Given the description of an element on the screen output the (x, y) to click on. 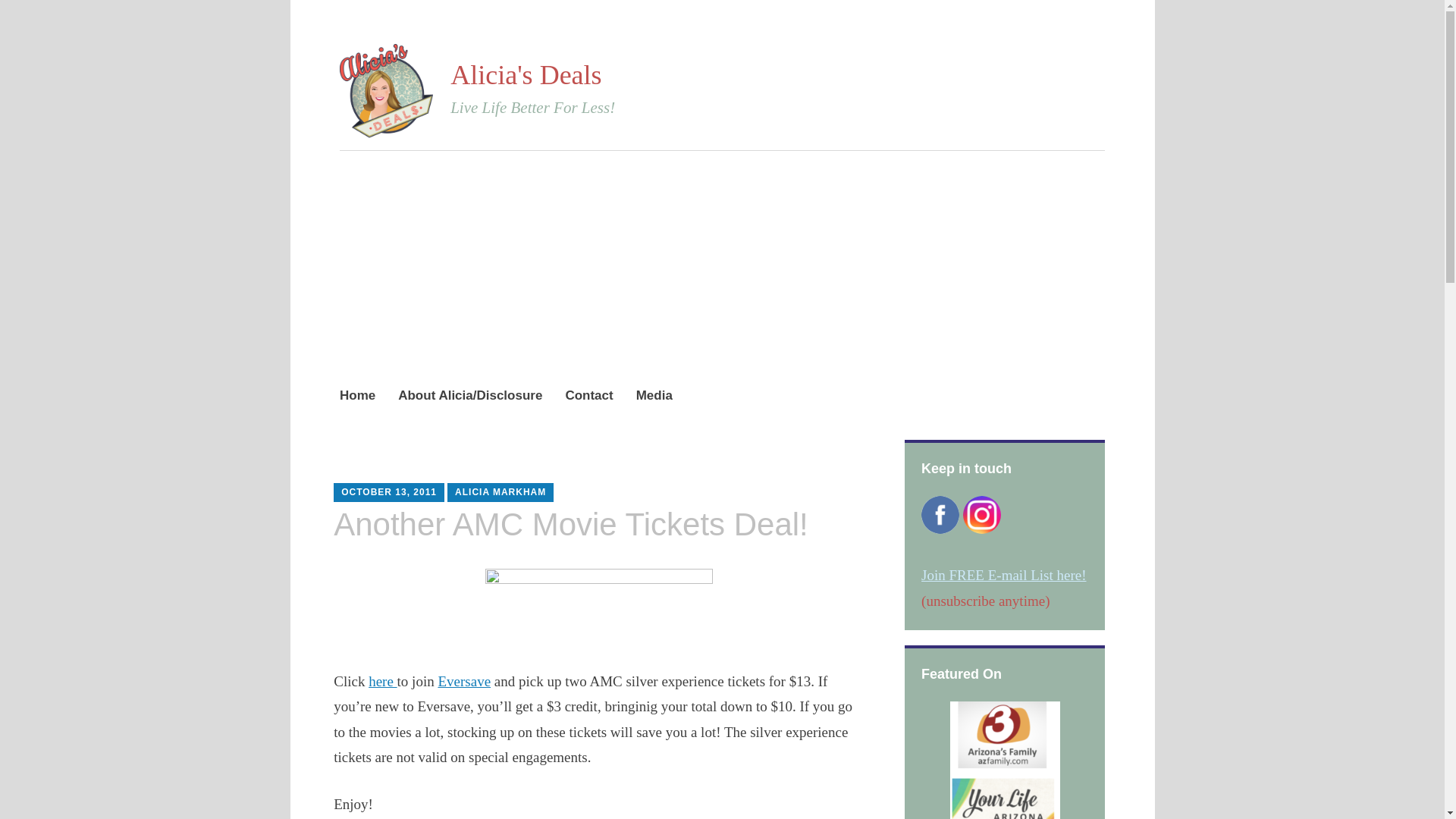
Contact (588, 396)
Eversave (464, 681)
Alicia's Deals (525, 74)
Join FREE E-mail List here! (1003, 575)
OCTOBER 13, 2011 (388, 491)
Home (357, 396)
ALICIA MARKHAM (500, 491)
here (382, 681)
Media (654, 396)
